Given the description of an element on the screen output the (x, y) to click on. 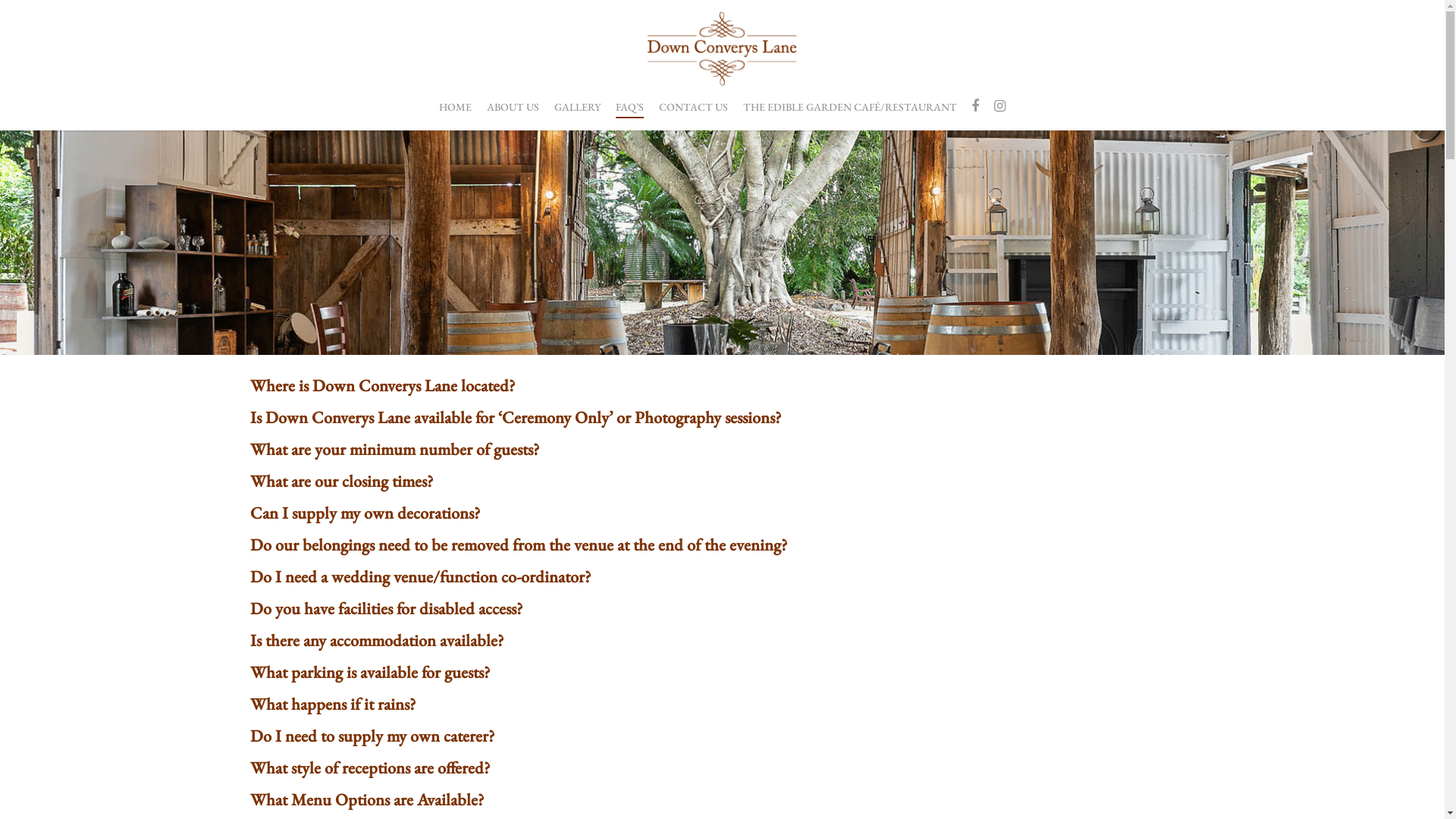
Do I need a wedding venue/function co-ordinator? Element type: text (420, 576)
CONTACT US Element type: text (693, 114)
What parking is available for guests? Element type: text (369, 672)
Can I supply my own decorations? Element type: text (365, 513)
FACEBOOK Element type: text (974, 106)
What Menu Options are Available? Element type: text (366, 799)
INSTAGRAM Element type: text (999, 106)
Is there any accommodation available? Element type: text (376, 640)
GALLERY Element type: text (577, 114)
What style of receptions are offered? Element type: text (369, 767)
Do you have facilities for disabled access? Element type: text (386, 608)
What are our closing times? Element type: text (341, 481)
What are your minimum number of guests? Element type: text (394, 449)
Where is Down Converys Lane located? Element type: text (382, 385)
Do I need to supply my own caterer? Element type: text (372, 735)
What happens if it rains? Element type: text (332, 704)
ABOUT US Element type: text (512, 114)
HOME Element type: text (455, 114)
